Given the description of an element on the screen output the (x, y) to click on. 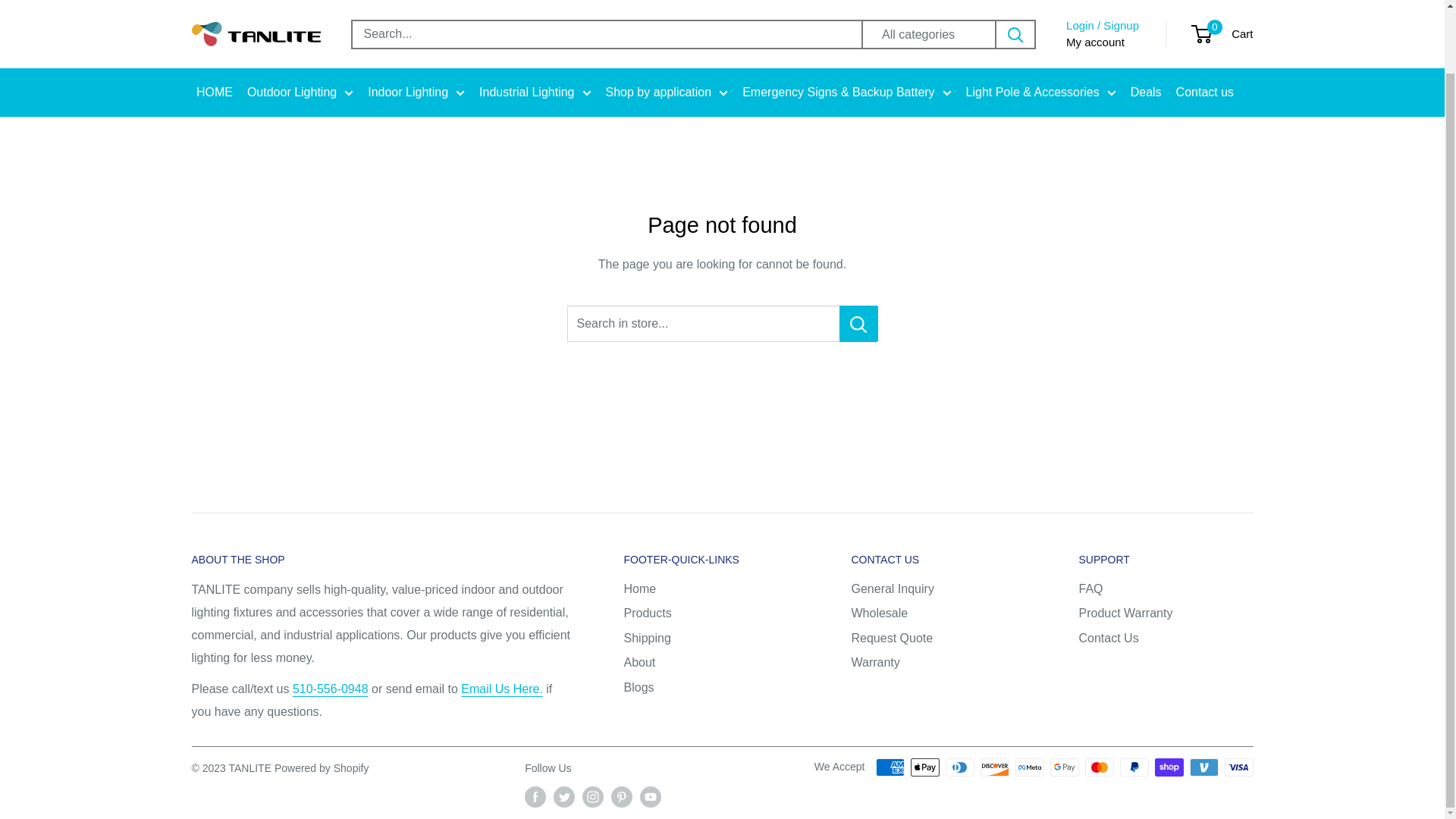
Contact Us (330, 688)
